Given the description of an element on the screen output the (x, y) to click on. 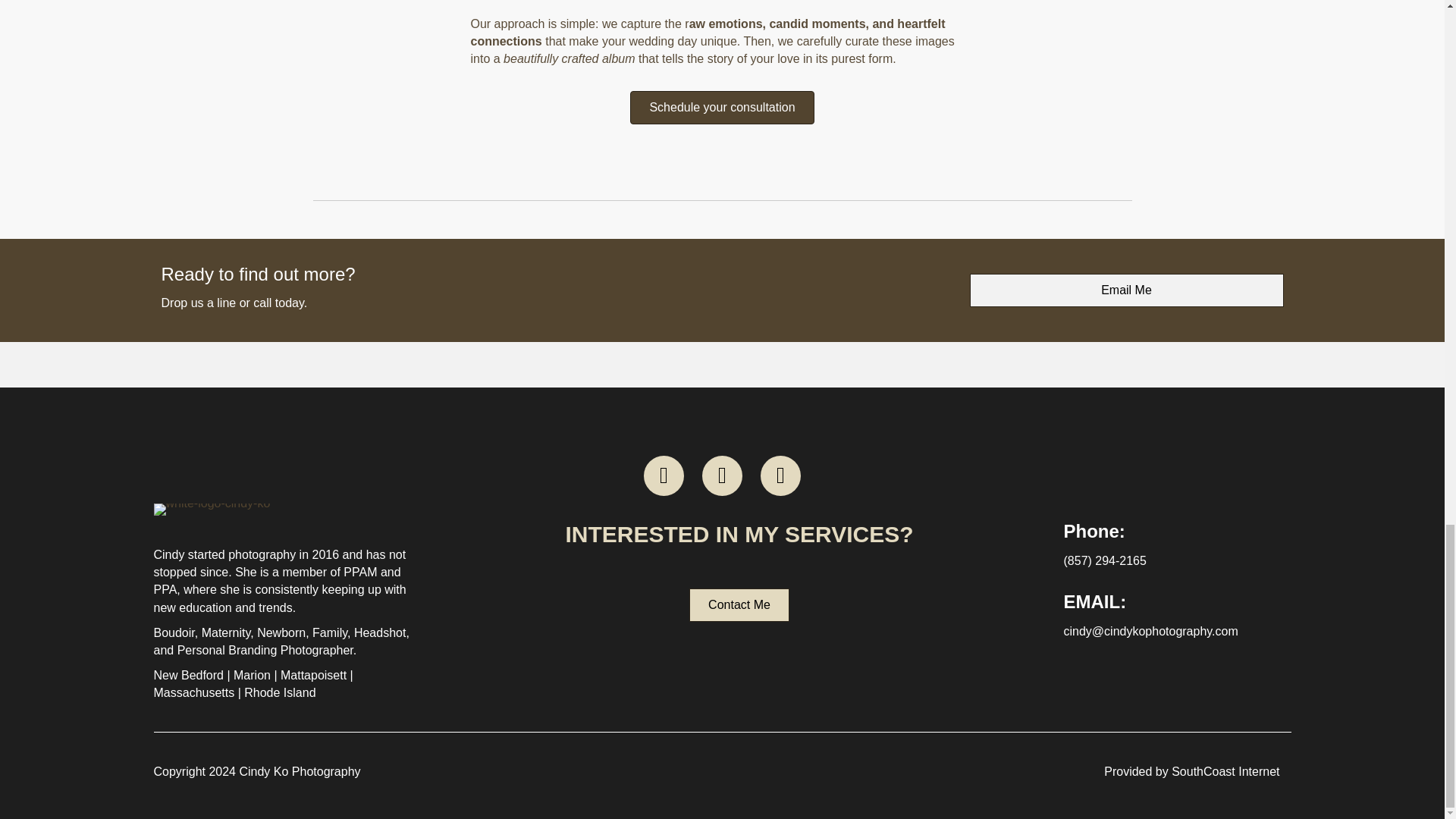
SouthCoast Internet (1225, 771)
Contact Me (738, 604)
Schedule your consultation (721, 107)
Email Me (1125, 290)
white-logo-cindy-ko (210, 509)
